Given the description of an element on the screen output the (x, y) to click on. 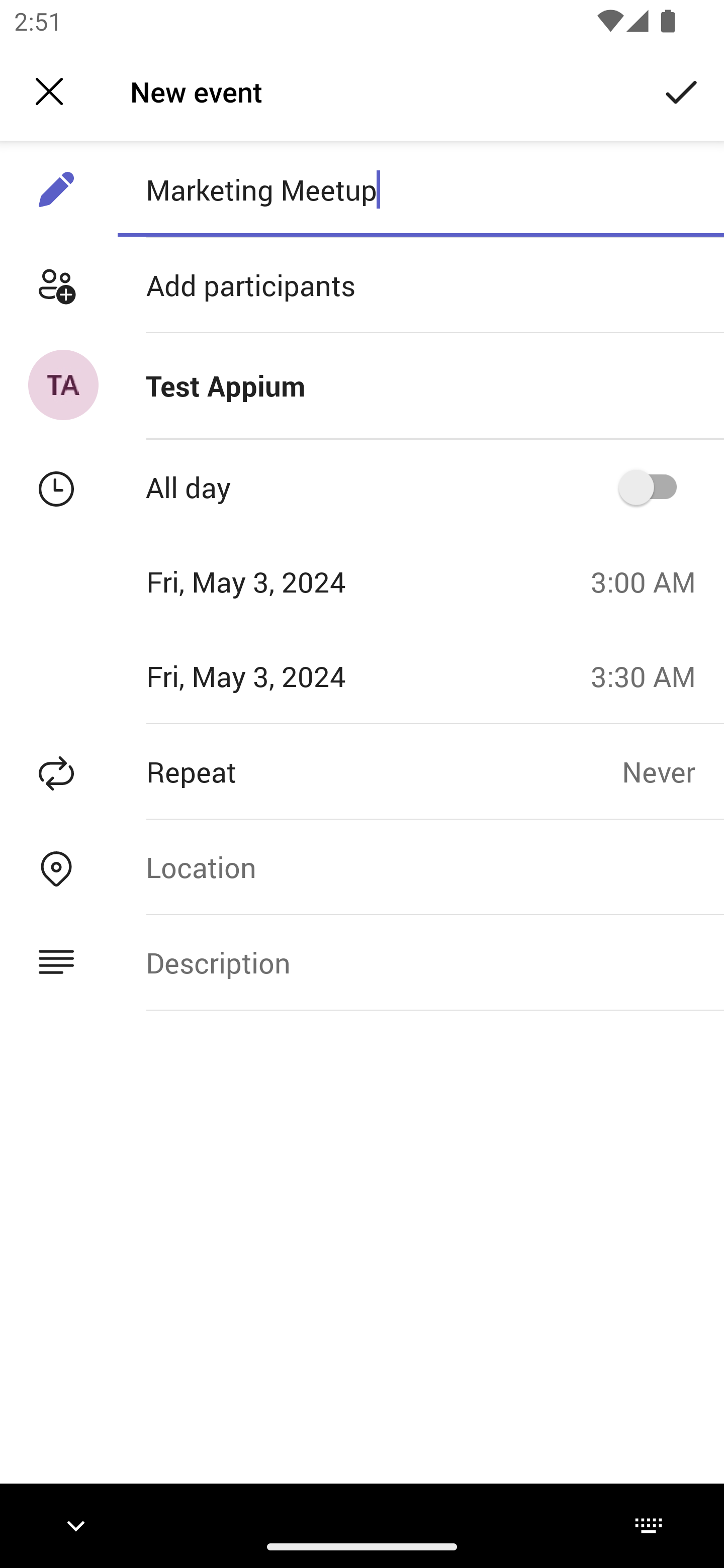
Back (49, 91)
Send invite (681, 90)
Marketing Meetup (420, 189)
Add participants Add participants option (362, 285)
All day (654, 486)
Fri, May 3, 2024 Starts Friday May 03, 2024 (288, 581)
3:00 AM Start time 3:00 AM (650, 581)
Fri, May 3, 2024 Ends Friday May 03, 2024 (288, 675)
3:30 AM End time 3:30 AM (650, 675)
Repeat (310, 771)
Never Repeat Never (672, 771)
Location (420, 867)
Description (420, 962)
